Given the description of an element on the screen output the (x, y) to click on. 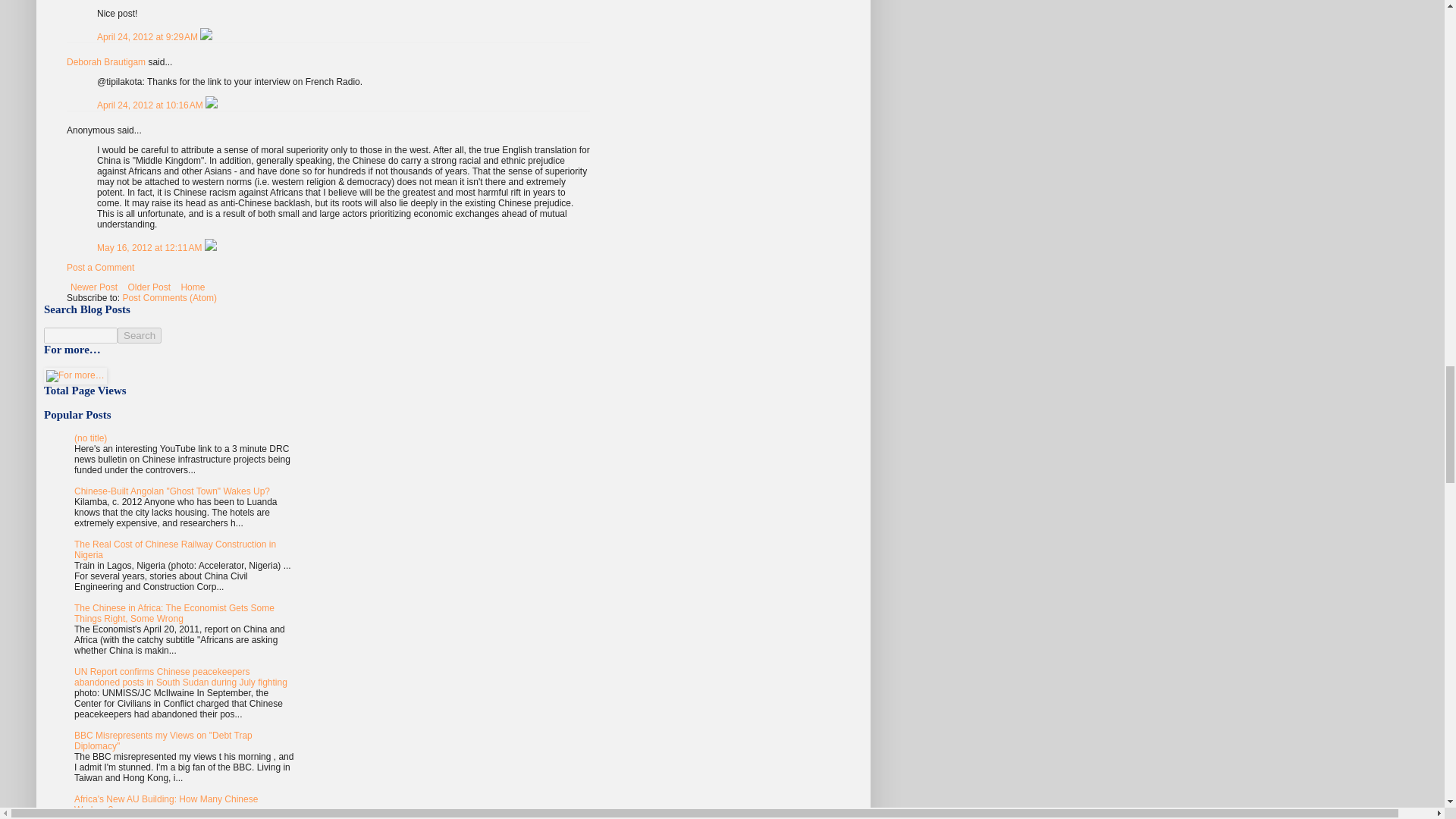
Search (139, 335)
Search (139, 335)
